Given the description of an element on the screen output the (x, y) to click on. 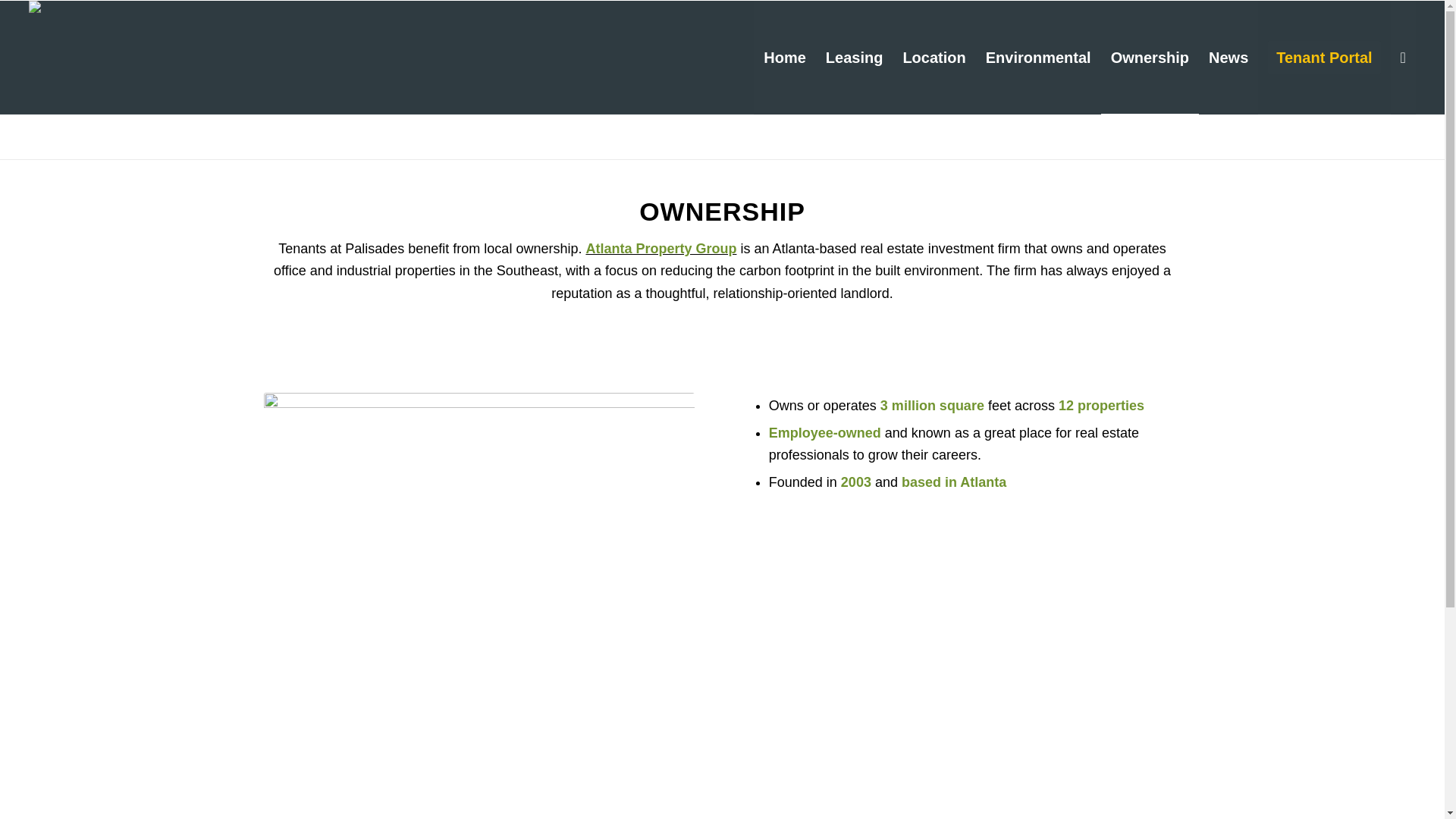
Atlanta Property Group (660, 248)
Palisades-Transparent LOGO1 (84, 57)
Tenant Portal (1323, 57)
Environmental (1037, 57)
Palisades-Transparent LOGO1 (84, 18)
Atlanta Property Group (660, 248)
